Given the description of an element on the screen output the (x, y) to click on. 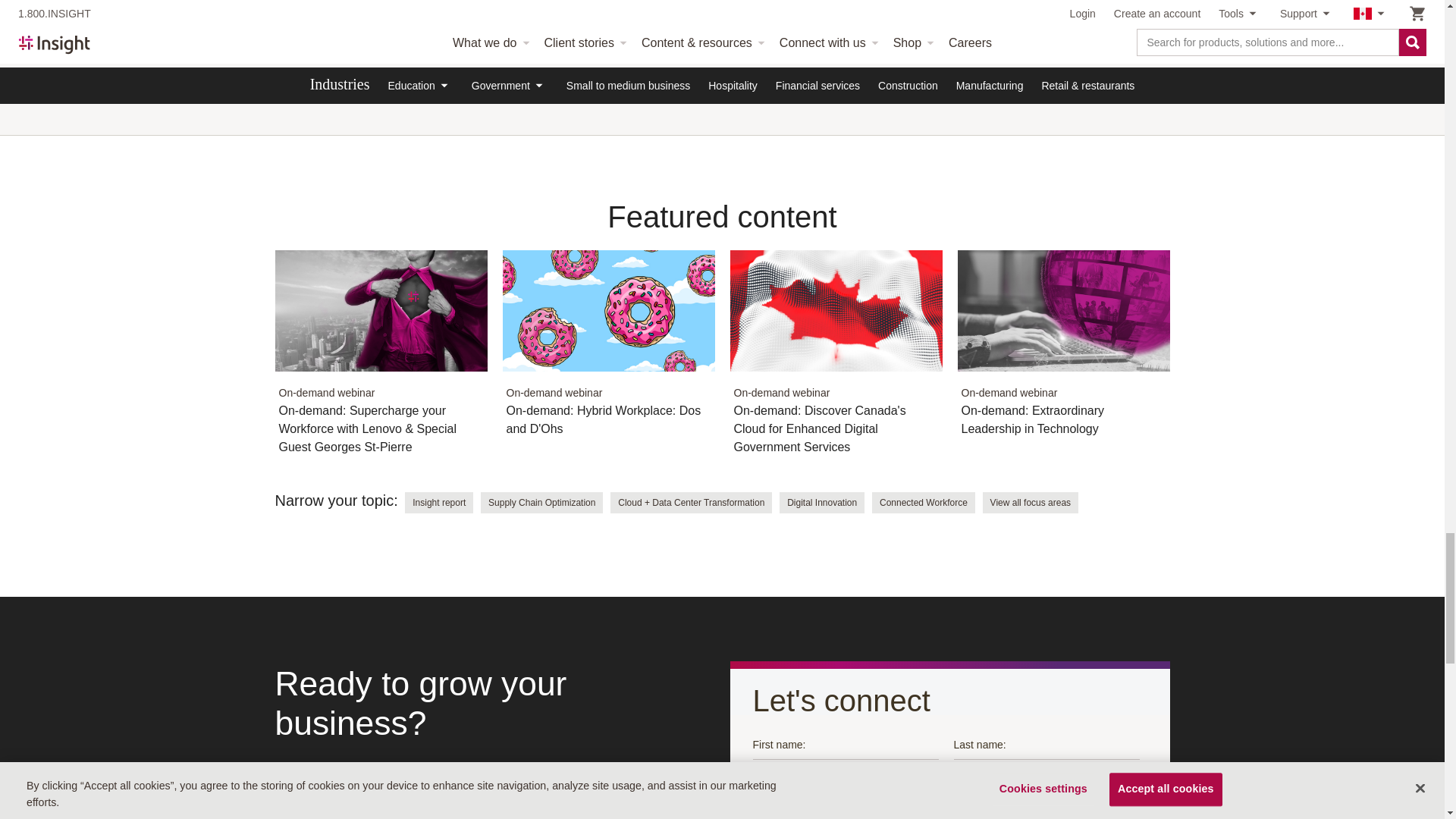
Read more (1062, 351)
Read more (608, 351)
Your response is limited to 40 characters (844, 742)
Read more (835, 360)
Turn ideas into positive business outcomes (494, 25)
Read more (380, 360)
